Given the description of an element on the screen output the (x, y) to click on. 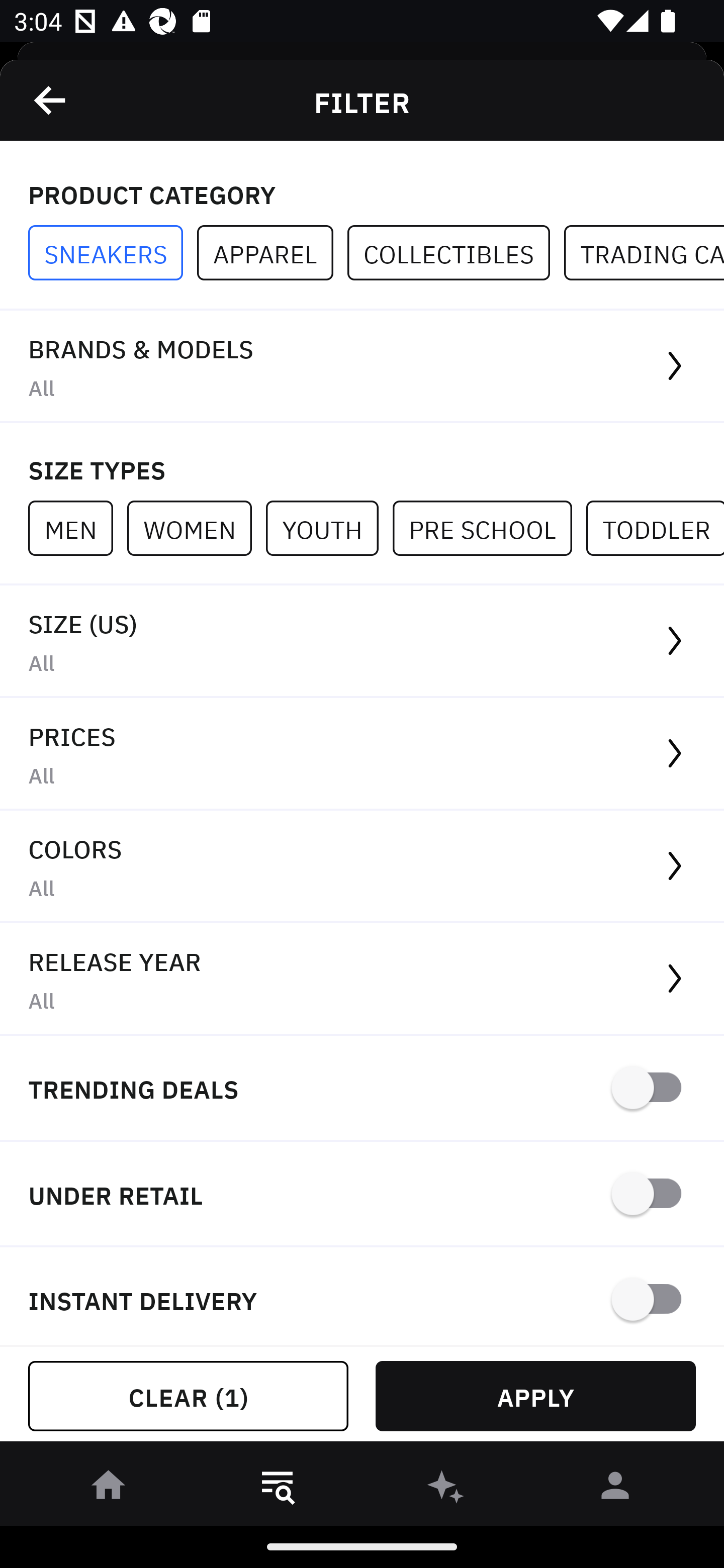
 (50, 100)
SNEAKERS (112, 252)
APPAREL (271, 252)
COLLECTIBLES (455, 252)
TRADING CARDS (643, 252)
BRANDS & MODELS All (362, 366)
MEN (77, 527)
WOMEN (196, 527)
YOUTH (328, 527)
PRE SCHOOL (489, 527)
TODDLER (655, 527)
SIZE (US) All (362, 640)
PRICES All (362, 753)
COLORS All (362, 866)
RELEASE YEAR All (362, 979)
TRENDING DEALS (362, 1088)
UNDER RETAIL (362, 1194)
INSTANT DELIVERY (362, 1296)
CLEAR (1) (188, 1396)
APPLY (535, 1396)
󰋜 (108, 1488)
󱎸 (277, 1488)
󰫢 (446, 1488)
󰀄 (615, 1488)
